Given the description of an element on the screen output the (x, y) to click on. 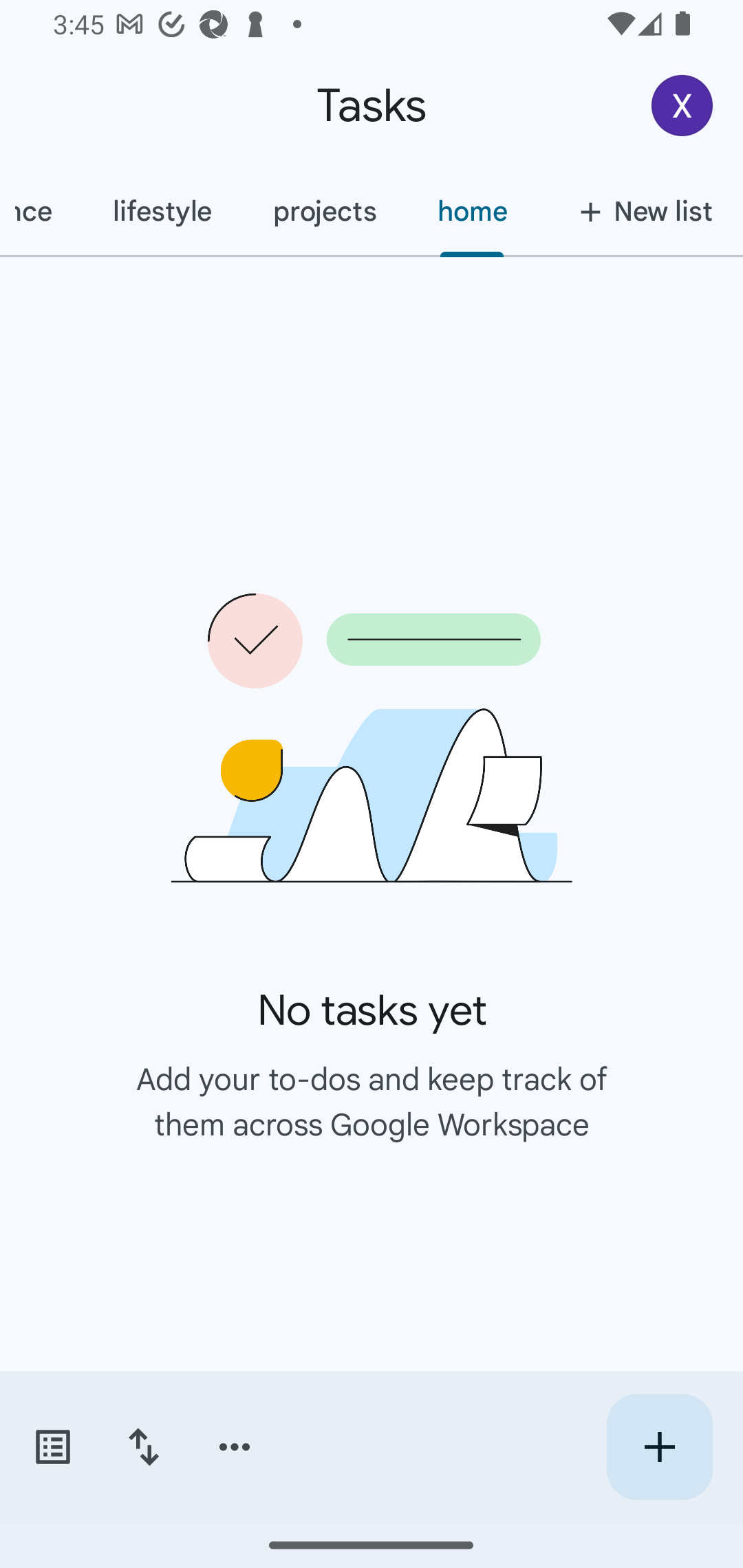
lifestyle (161, 211)
projects (324, 211)
New list (640, 211)
Switch task lists (52, 1447)
Create new task (659, 1446)
Change sort order (143, 1446)
More options (234, 1446)
